Given the description of an element on the screen output the (x, y) to click on. 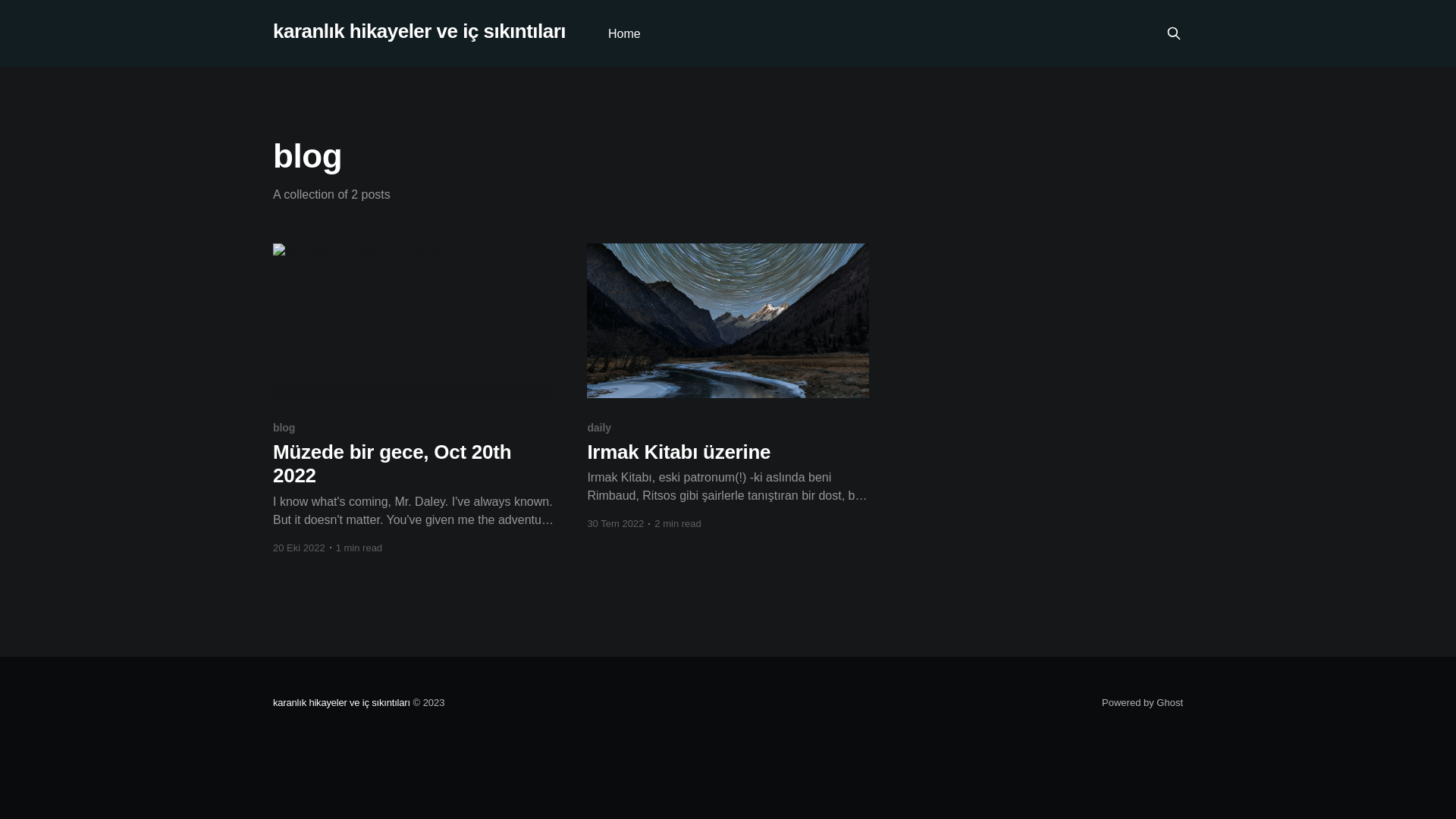
Home Element type: text (624, 33)
Powered by Ghost Element type: text (1142, 702)
